Given the description of an element on the screen output the (x, y) to click on. 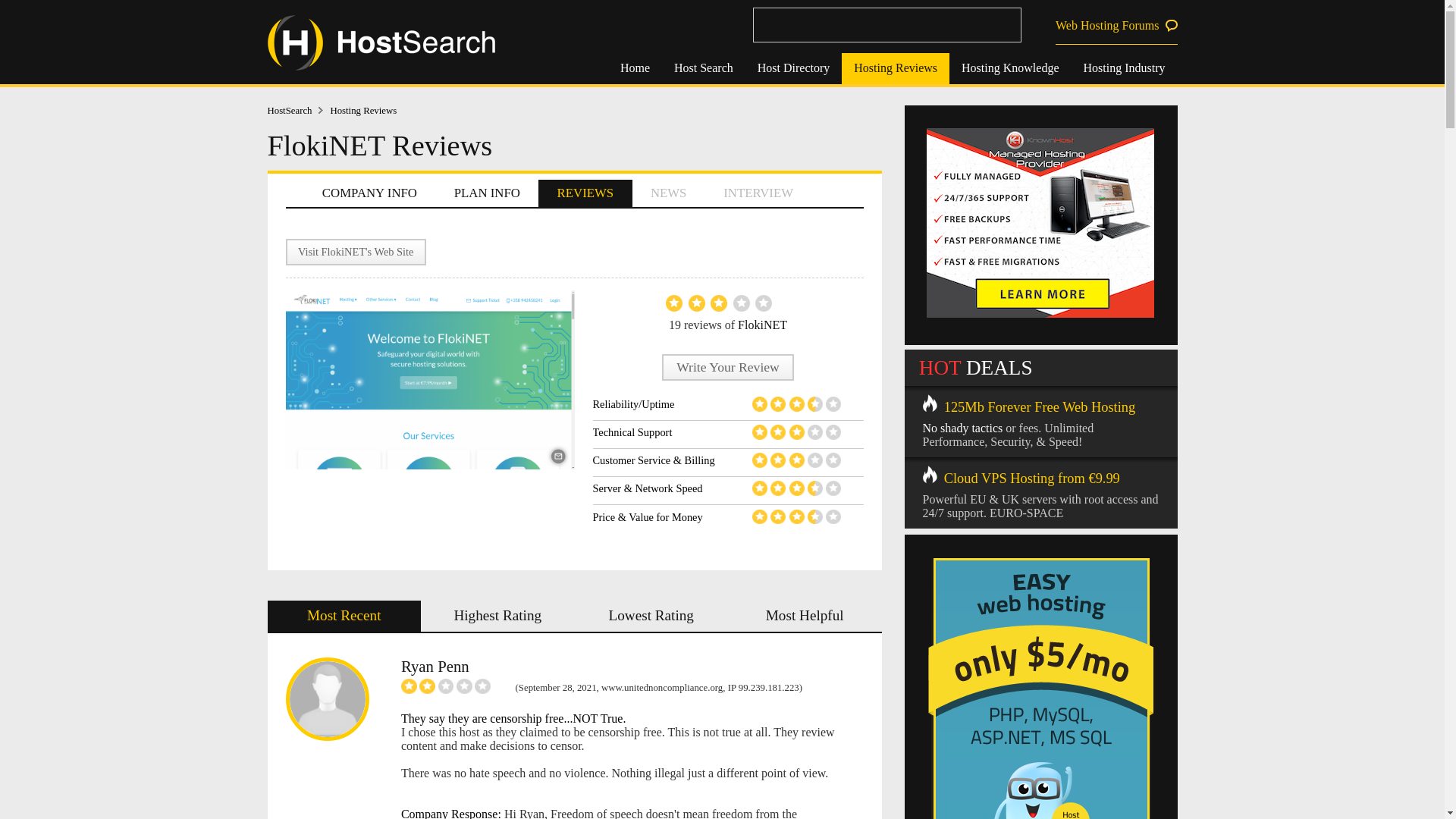
COMPANY INFO (368, 193)
Hosting Reviews (895, 68)
Search for hosting providers and more... (886, 24)
REVIEWS (584, 193)
PLAN INFO (486, 193)
Web Hosting Forums (1116, 26)
Sort by Highest Rating (497, 615)
HostSearch (298, 111)
INTERVIEW (758, 193)
Home (635, 68)
Host Search (703, 68)
Sort by Most Helpful (805, 615)
Hosting Knowledge (1009, 68)
Sort by Most Recent (343, 615)
Hosting Industry (1123, 68)
